Given the description of an element on the screen output the (x, y) to click on. 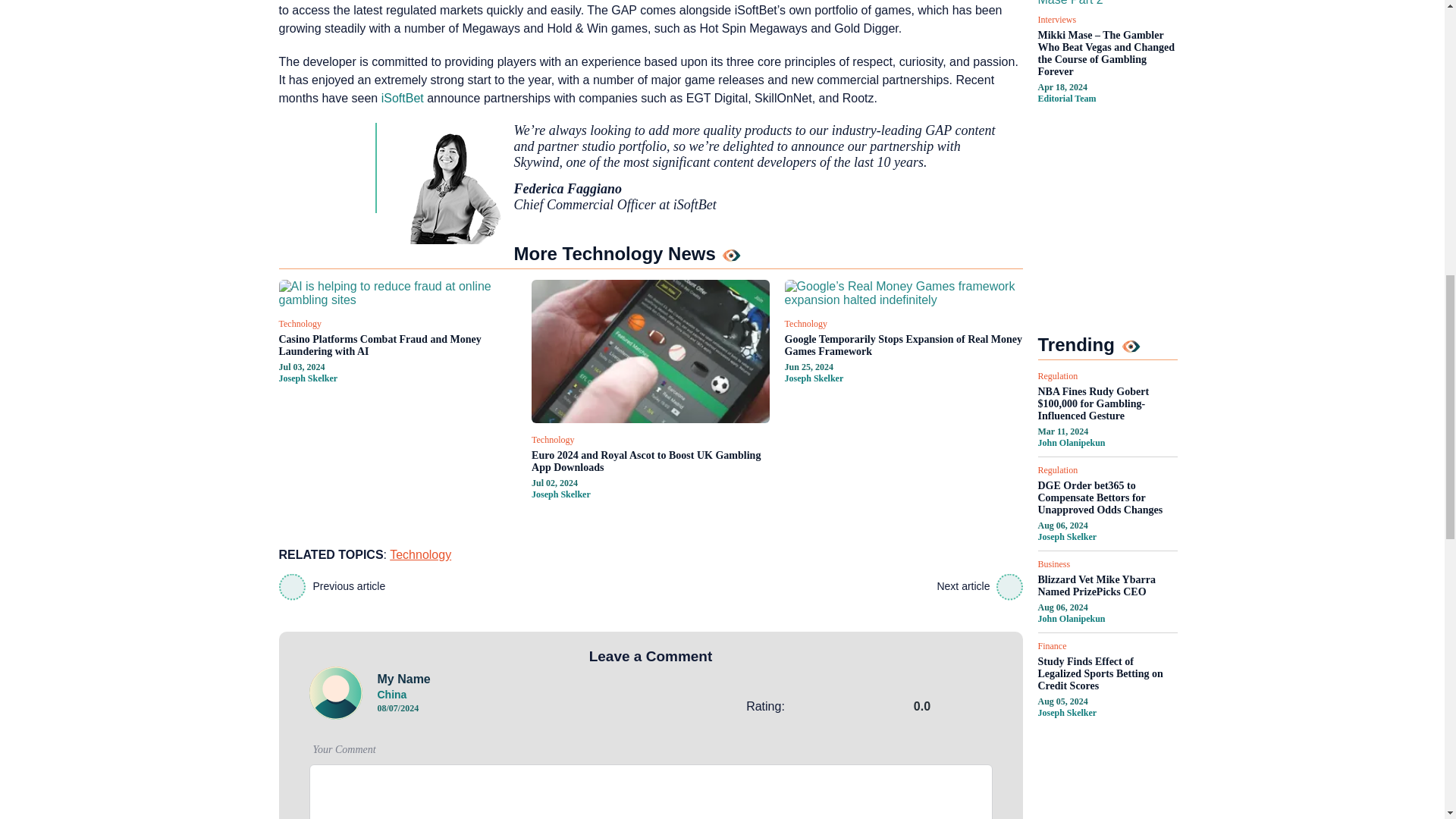
Euro 2024 and Royal Ascot to Boost UK Gambling App Downloads (650, 461)
Joseph Skelker (308, 378)
iSoftBet (402, 97)
Casino Platforms Combat Fraud and Money Laundering with AI (397, 345)
